Given the description of an element on the screen output the (x, y) to click on. 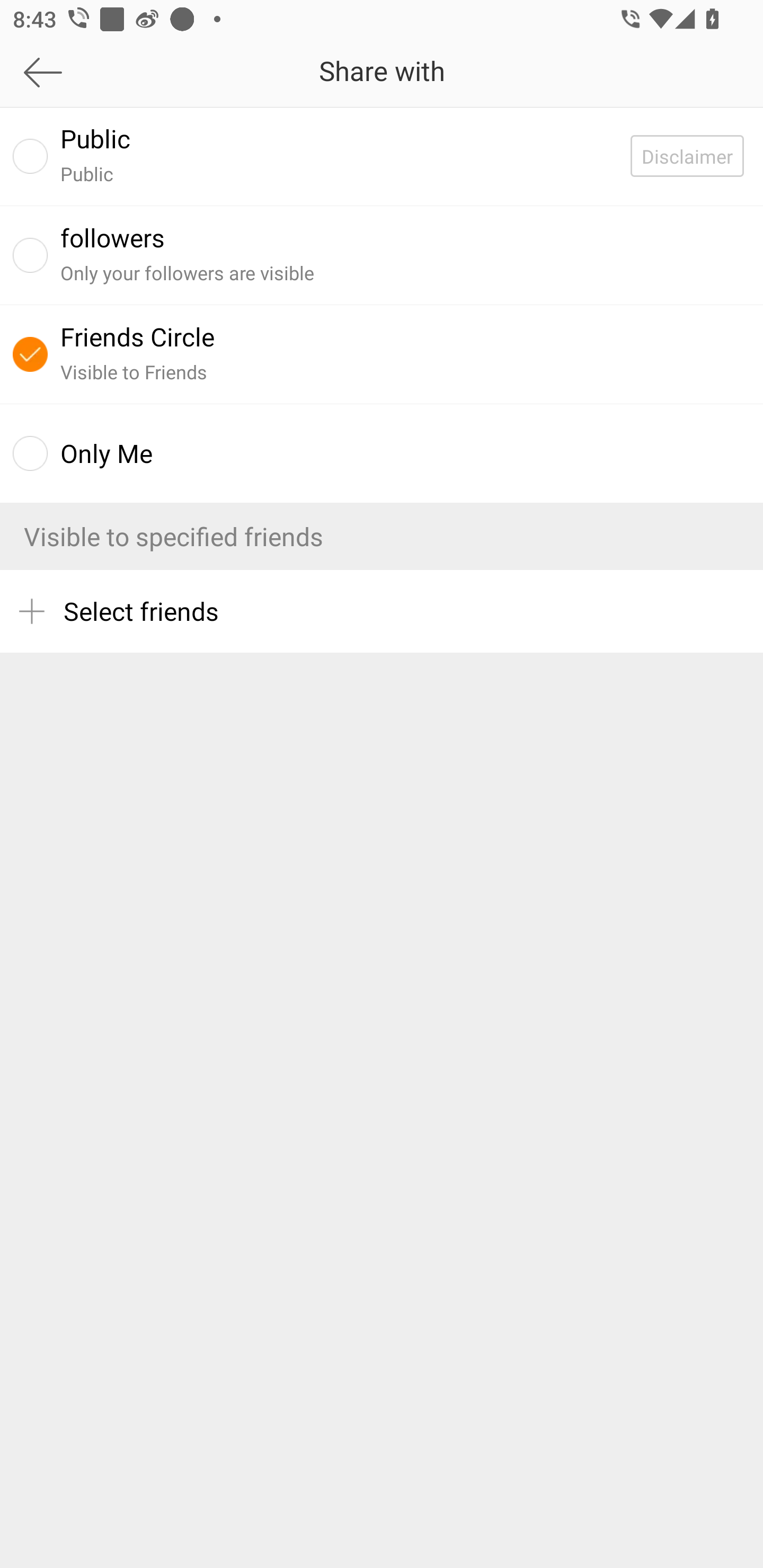
Back (100, 71)
Public Public Disclaimer (381, 155)
Disclaimer (696, 155)
followers Only your followers are visible (381, 254)
Friends Circle Visible to Friends (381, 353)
Only Me (381, 453)
Visible to specified friends (381, 536)
Select friends (381, 611)
